Given the description of an element on the screen output the (x, y) to click on. 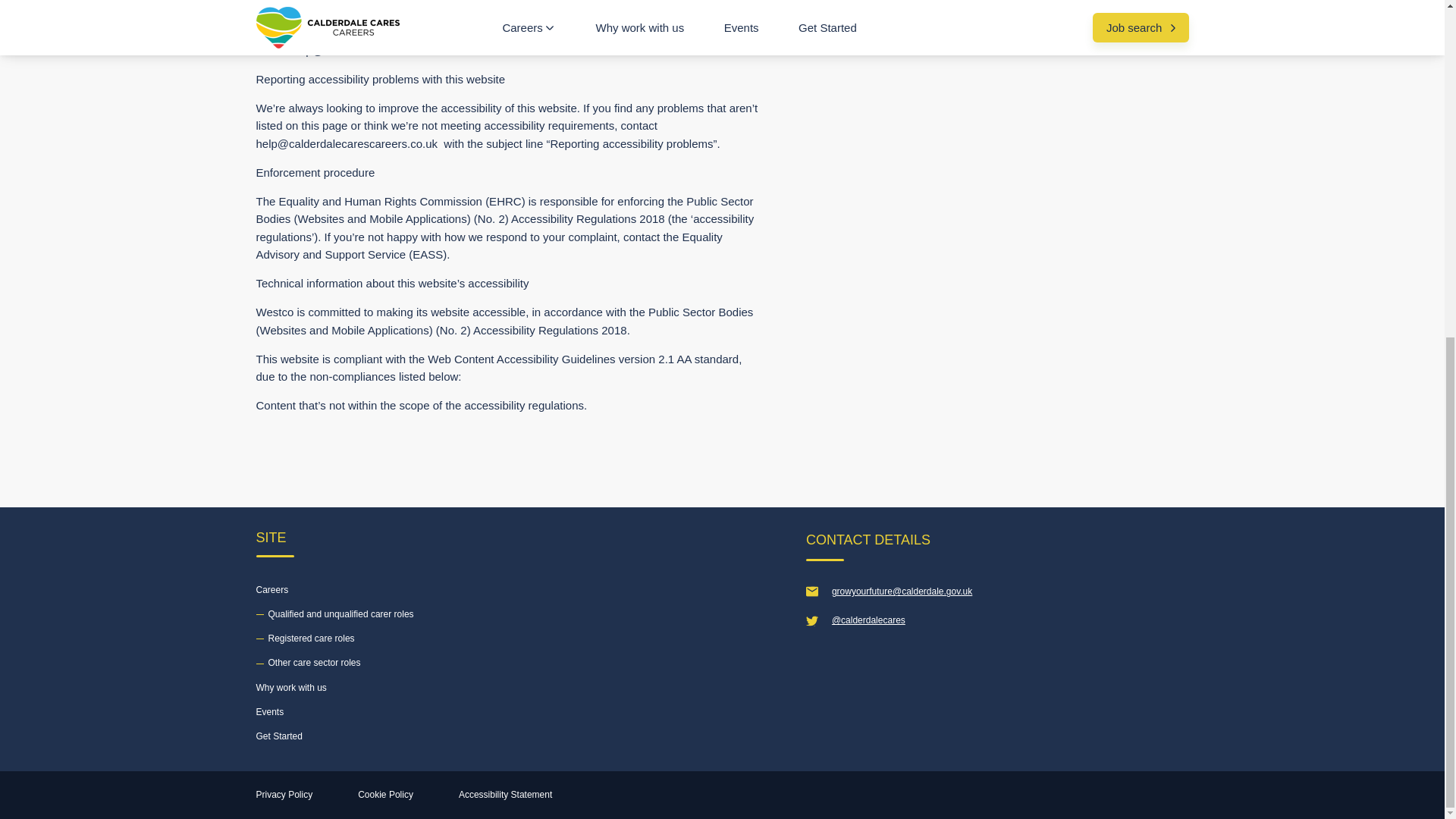
Accessibility Statement (504, 794)
Events (269, 711)
Why work with us (291, 687)
Privacy Policy (284, 794)
Registered care roles (305, 638)
Get Started (279, 735)
Other care sector roles (308, 662)
Cookie Policy (385, 794)
Careers (272, 589)
Qualified and unqualified carer roles (334, 613)
